Given the description of an element on the screen output the (x, y) to click on. 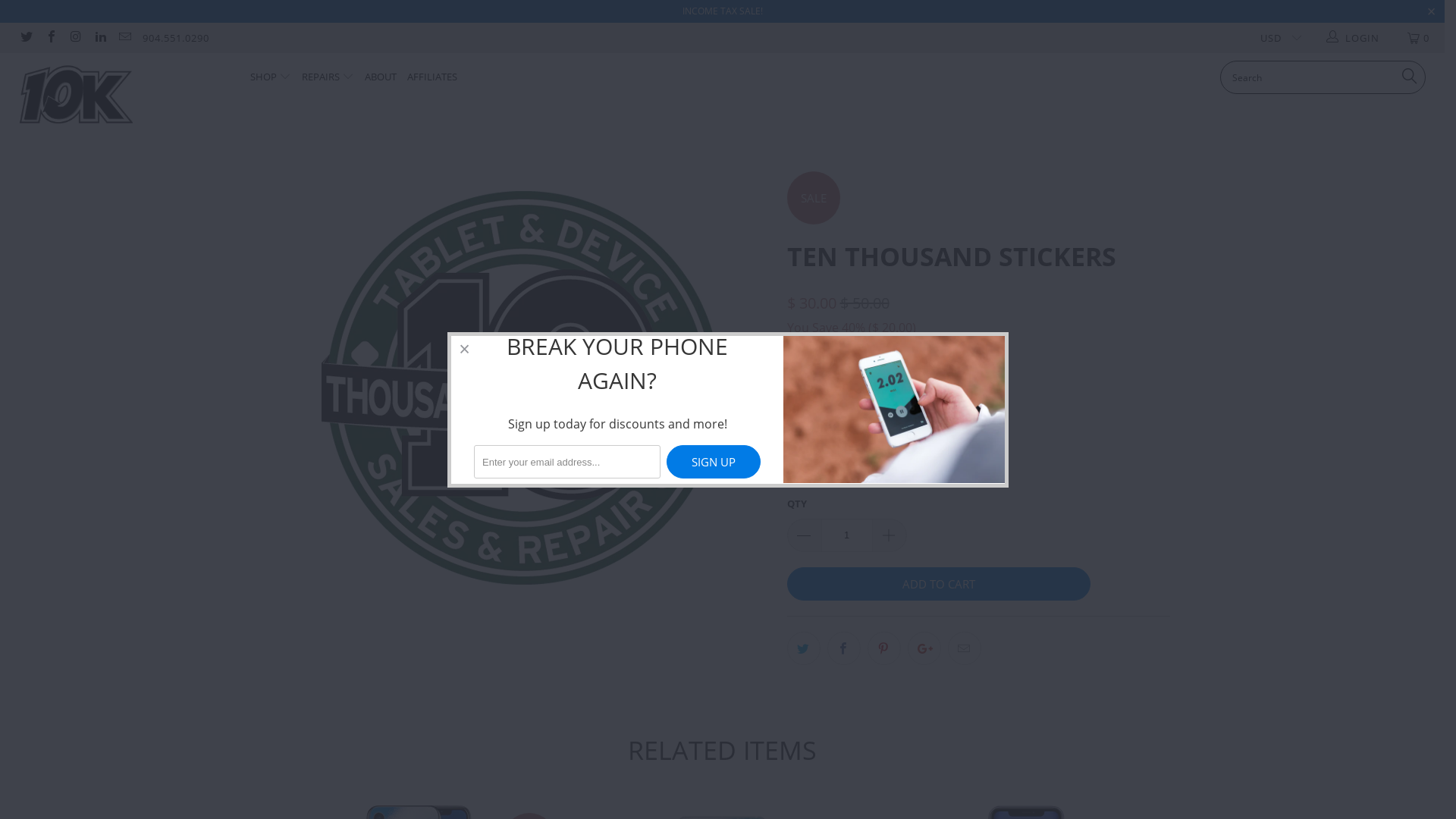
Email 10,000 Cellphones, Repairs, Tablets and Batteries Element type: hover (124, 37)
Share this on Pinterest Element type: hover (883, 648)
SHOP Element type: text (270, 77)
10,000 Cellphones, Repairs, Tablets and Batteries Element type: hover (123, 100)
Share this on Google+ Element type: hover (923, 648)
Share this on Facebook Element type: hover (842, 648)
Share this on Twitter Element type: hover (803, 648)
904.551.0290 Element type: text (175, 37)
ABOUT Element type: text (380, 77)
LOGIN Element type: text (1353, 37)
REPAIRS Element type: text (327, 77)
ADD TO CART Element type: text (938, 583)
Sign Up Element type: text (713, 461)
10,000 Cellphones, Repairs, Tablets and Batteries on Twitter Element type: hover (25, 37)
AFFILIATES Element type: text (432, 77)
Email this to a friend Element type: hover (964, 648)
0 Element type: text (1419, 37)
